Given the description of an element on the screen output the (x, y) to click on. 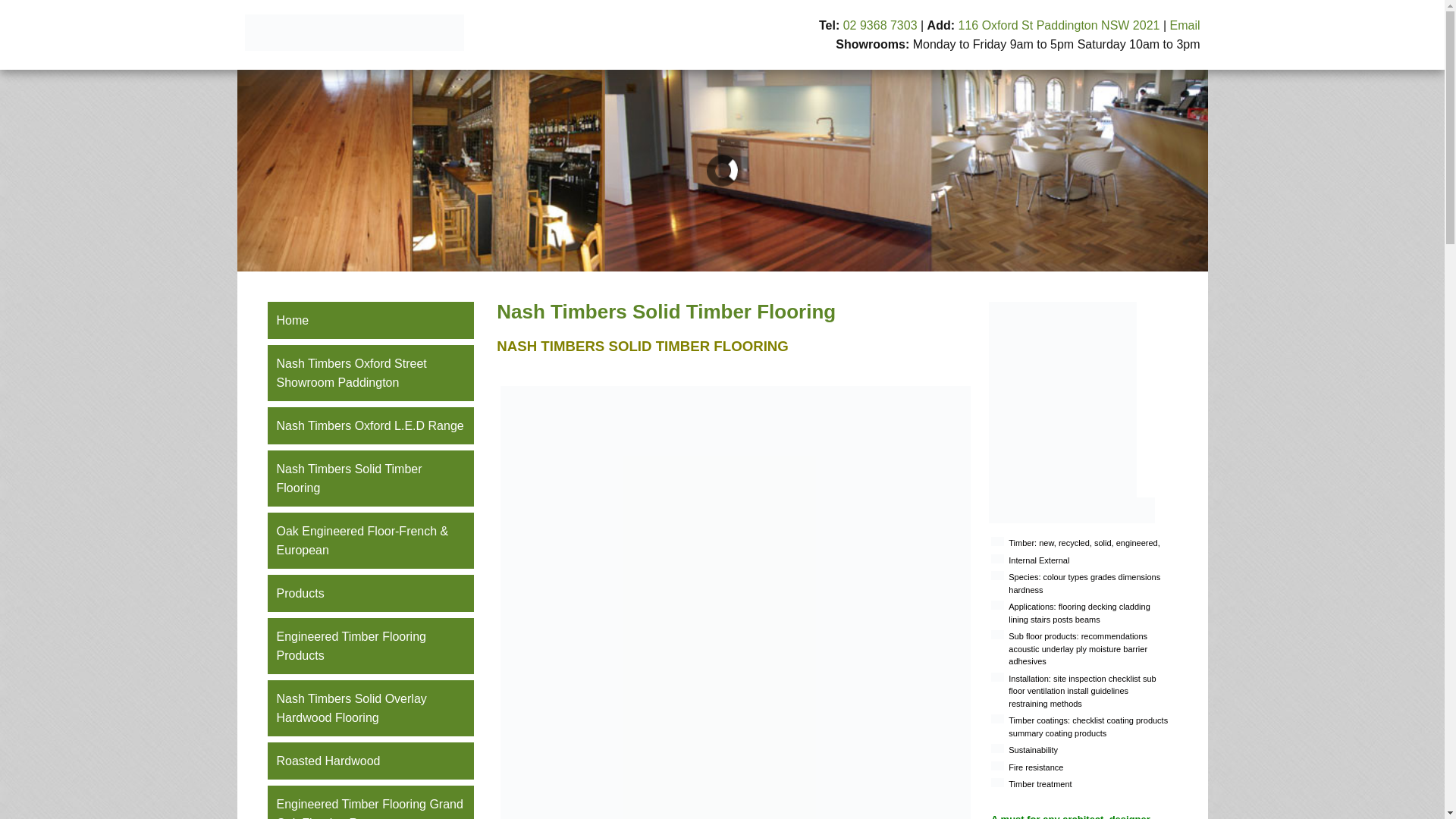
Nash Timbers Oxford Street Showroom Paddington Element type: text (370, 373)
Home Element type: text (370, 319)
Email Element type: text (1184, 24)
Nash Timbers Solid Timber Flooring Element type: text (370, 478)
116 Oxford St Paddington NSW 2021 Element type: text (1059, 24)
Roasted Hardwood Element type: text (370, 760)
Engineered Timber Flooring Products Element type: text (370, 646)
Oak Engineered Floor-French & European Element type: text (370, 540)
Nash Timbers Oxford L.E.D Range Element type: text (370, 425)
Nash Timbers Solid Overlay Hardwood Flooring Element type: text (370, 708)
02 9368 7303 Element type: text (880, 24)
Products Element type: text (370, 592)
